Given the description of an element on the screen output the (x, y) to click on. 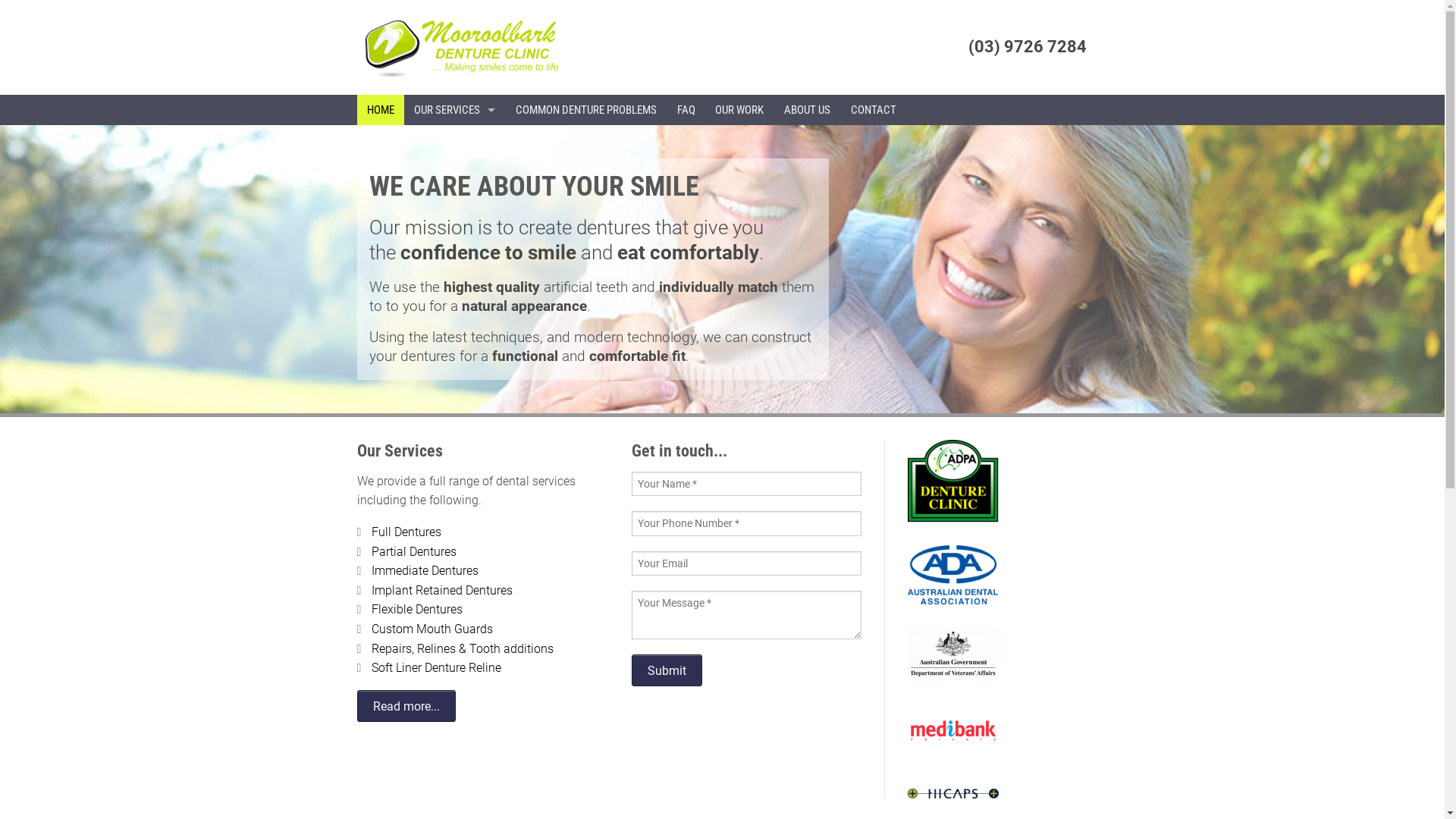
FAQ Element type: text (685, 109)
Soft Liner Denture Reline Element type: text (436, 667)
COMMON DENTURE PROBLEMS Element type: text (586, 109)
Submit Element type: text (666, 670)
Repairs, Relines & Tooth additions Element type: text (462, 648)
Implant Retained Dentures Element type: text (441, 590)
Flexible Dentures Element type: text (416, 609)
Immediate Dentures Element type: text (424, 570)
Read more... Element type: text (405, 705)
Partial Dentures Element type: text (413, 551)
CONTACT Element type: text (873, 109)
Custom Mouth Guards Element type: text (431, 628)
OUR WORK Element type: text (739, 109)
HOME Element type: text (380, 109)
OUR SERVICES Element type: text (454, 109)
ABOUT US Element type: text (807, 109)
Full Dentures Element type: text (406, 531)
